Given the description of an element on the screen output the (x, y) to click on. 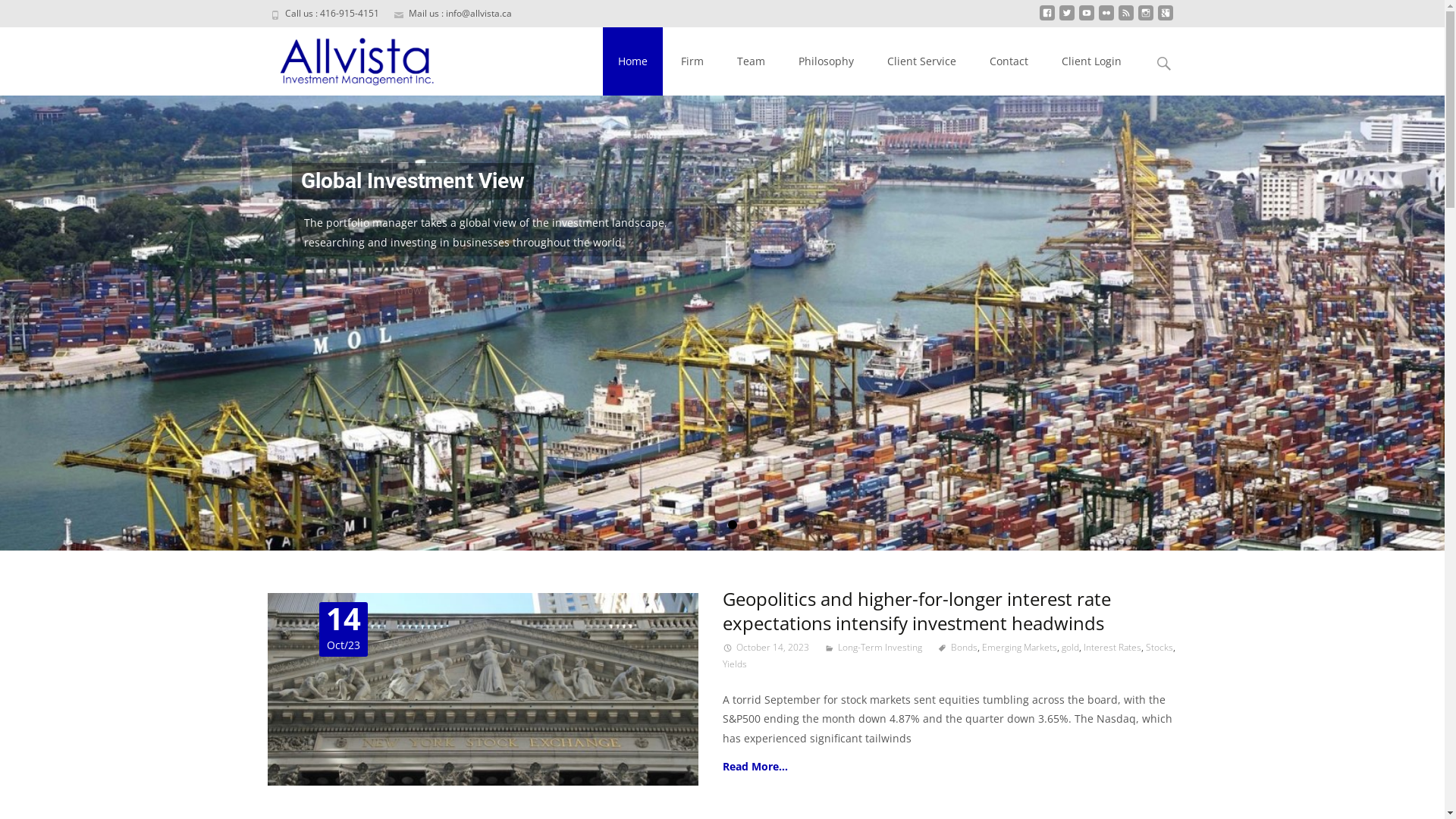
Search Element type: text (18, 15)
October 14, 2023 Element type: text (764, 646)
Yields Element type: text (733, 663)
Contact Element type: text (1007, 61)
Client Service Element type: text (921, 61)
youtube Element type: hover (1085, 18)
Emerging Markets Element type: text (1018, 646)
Bonds Element type: text (957, 646)
Firm Element type: text (691, 61)
flickr Element type: hover (1105, 18)
Know More Element type: text (344, 289)
Philosophy Element type: text (825, 61)
Allvista Investment Management Element type: hover (348, 57)
instagram Element type: hover (1144, 18)
twitter Element type: hover (1065, 18)
googleplus Element type: hover (1164, 18)
Skip to content Element type: text (639, 36)
Interest Rates Element type: text (1111, 646)
feed Element type: hover (1124, 18)
Team Element type: text (750, 61)
gold Element type: text (1070, 646)
Client Login Element type: text (1091, 61)
Long-Term Investing Element type: text (872, 646)
facebook Element type: hover (1046, 18)
Home Element type: text (632, 61)
Stocks Element type: text (1158, 646)
